Given the description of an element on the screen output the (x, y) to click on. 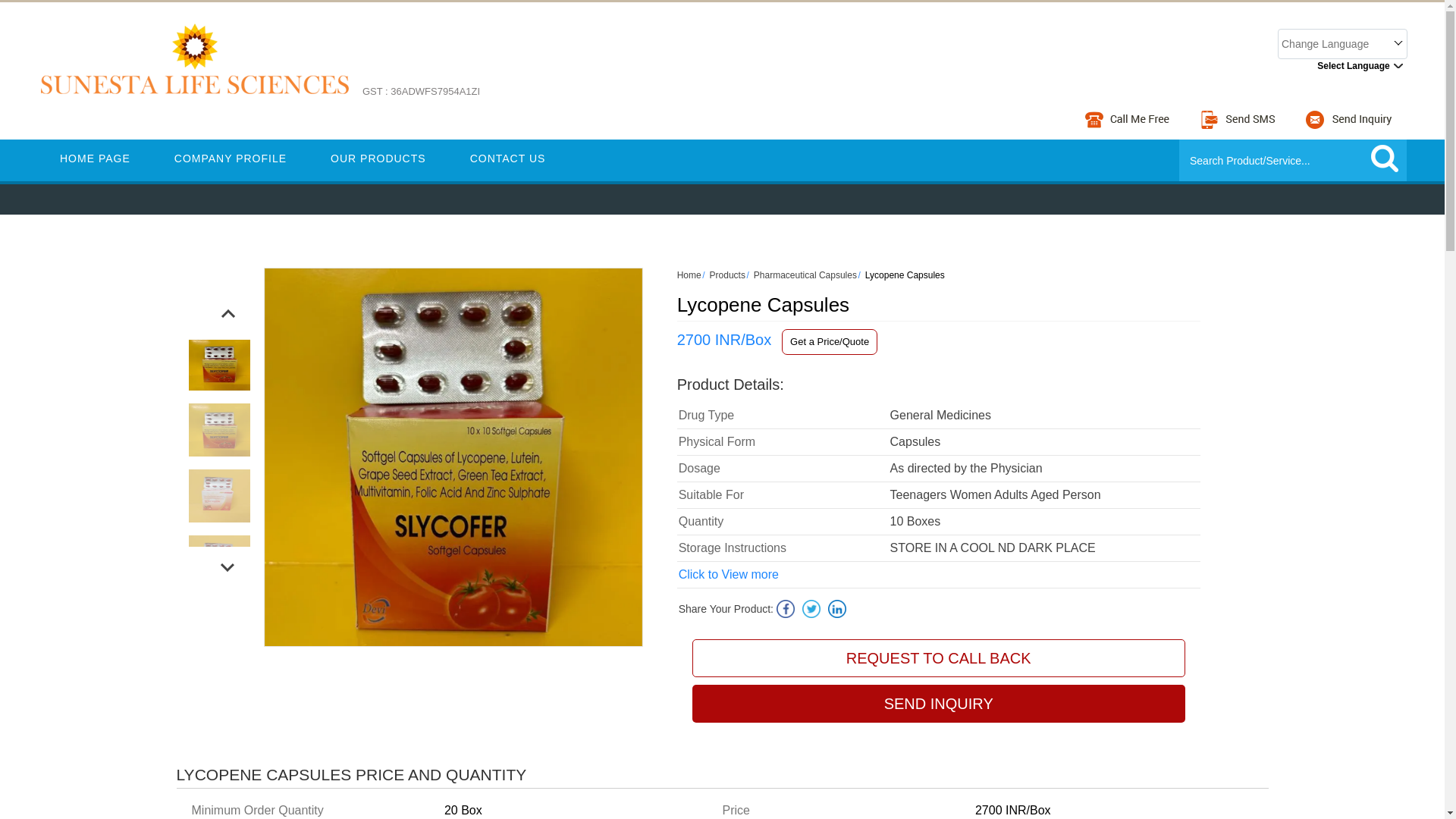
OUR PRODUCTS (378, 158)
CONTACT US (507, 158)
submit (1384, 159)
Home (689, 275)
Select Language (1339, 65)
submit (1384, 159)
GST : 36ADWFS7954A1ZI (421, 99)
COMPANY PROFILE (230, 158)
HOME PAGE (94, 158)
